Given the description of an element on the screen output the (x, y) to click on. 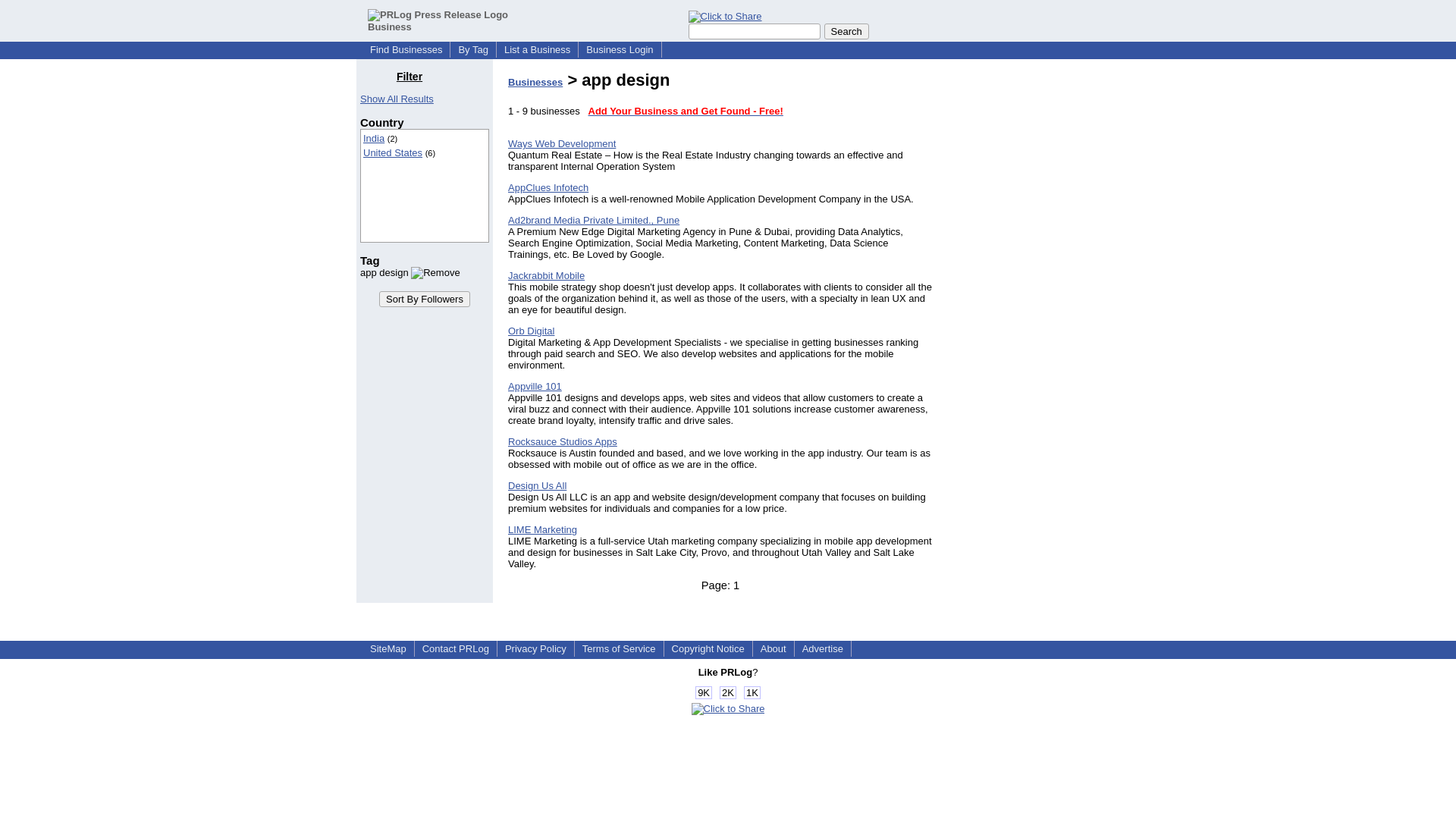
AppClues Infotech (548, 187)
Add Your Business and Get Found - Free! (685, 111)
Click to remove this filter (409, 272)
Click to see the index with all filters cleared (396, 98)
Sort By Followers (424, 299)
Copyright Notice (708, 648)
Design Us All (537, 485)
SiteMap (388, 648)
Share this page! (728, 708)
Search (846, 31)
